Given the description of an element on the screen output the (x, y) to click on. 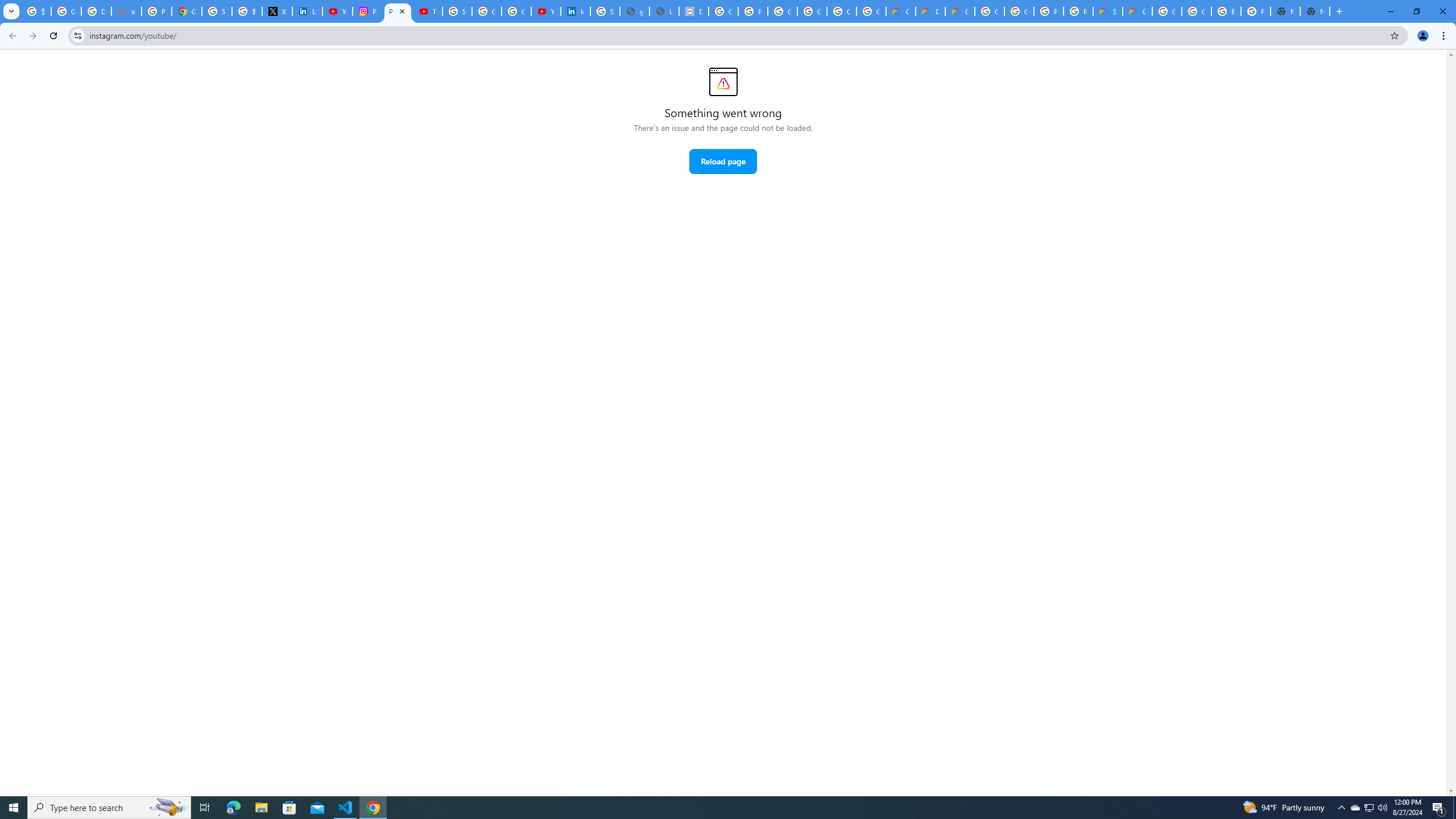
Data Privacy Framework (693, 11)
Error (723, 81)
LinkedIn Privacy Policy (306, 11)
Google Workspace - Specific Terms (871, 11)
